Given the description of an element on the screen output the (x, y) to click on. 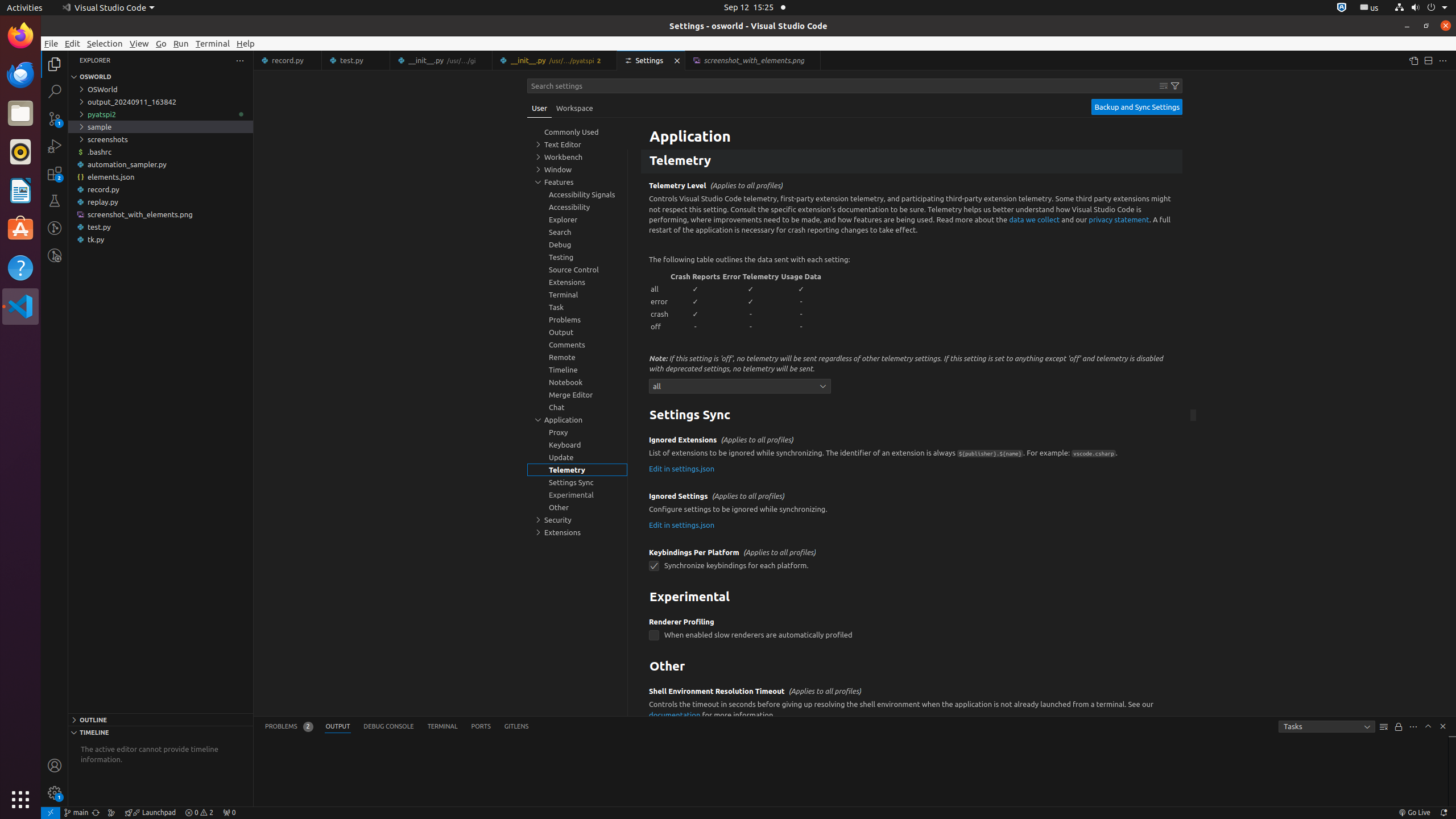
 Renderer Profiling. When enabled slow renderers are automatically profiled  Element type: tree-item (911, 632)
User Element type: check-box (539, 107)
Text Editor, group Element type: tree-item (577, 144)
settingsSync.keybindingsPerPlatform Element type: check-box (653, 565)
application.experimental.rendererProfiling Element type: check-box (653, 635)
